Given the description of an element on the screen output the (x, y) to click on. 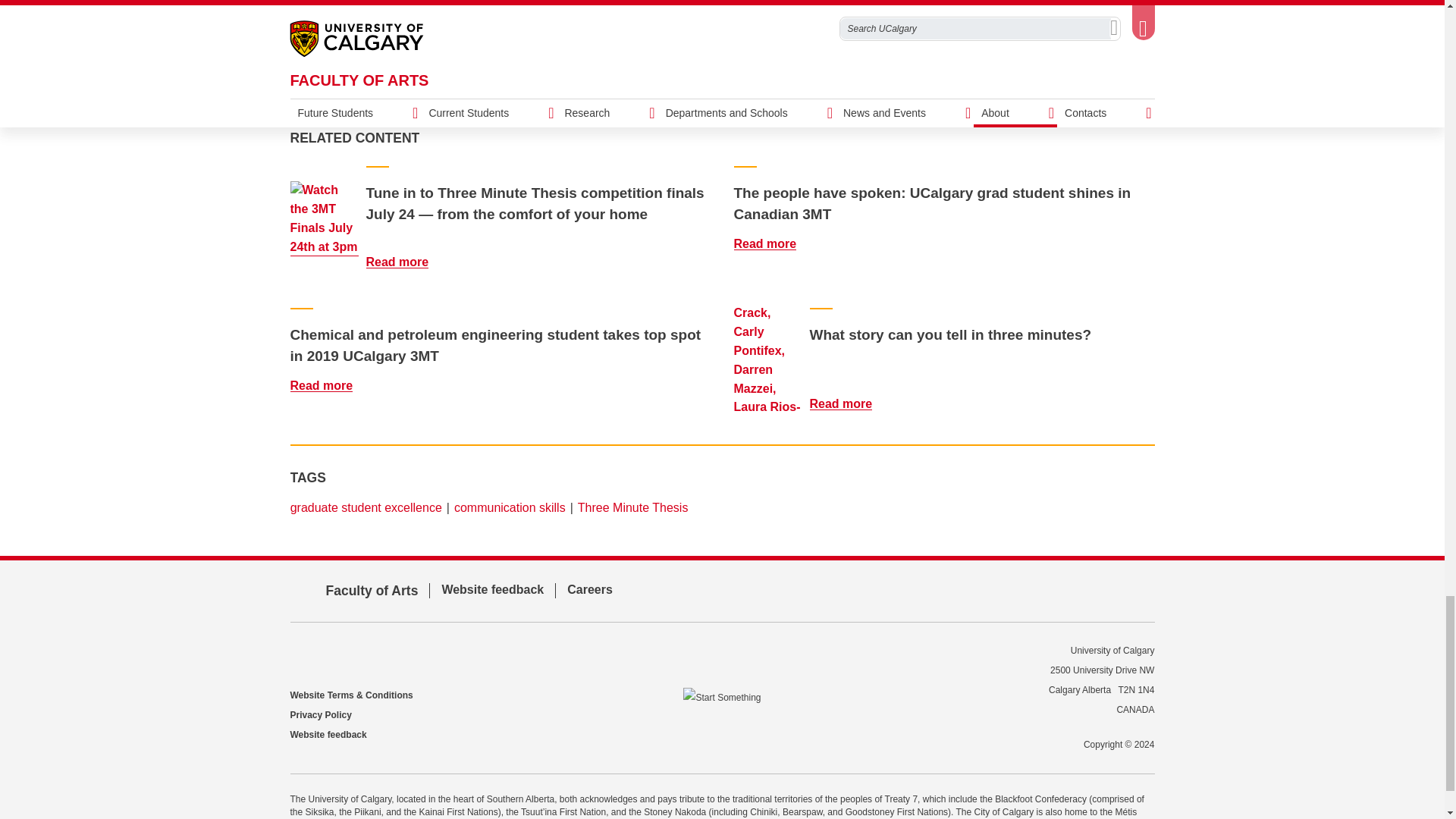
What story can you tell in three minutes? (850, 403)
